Given the description of an element on the screen output the (x, y) to click on. 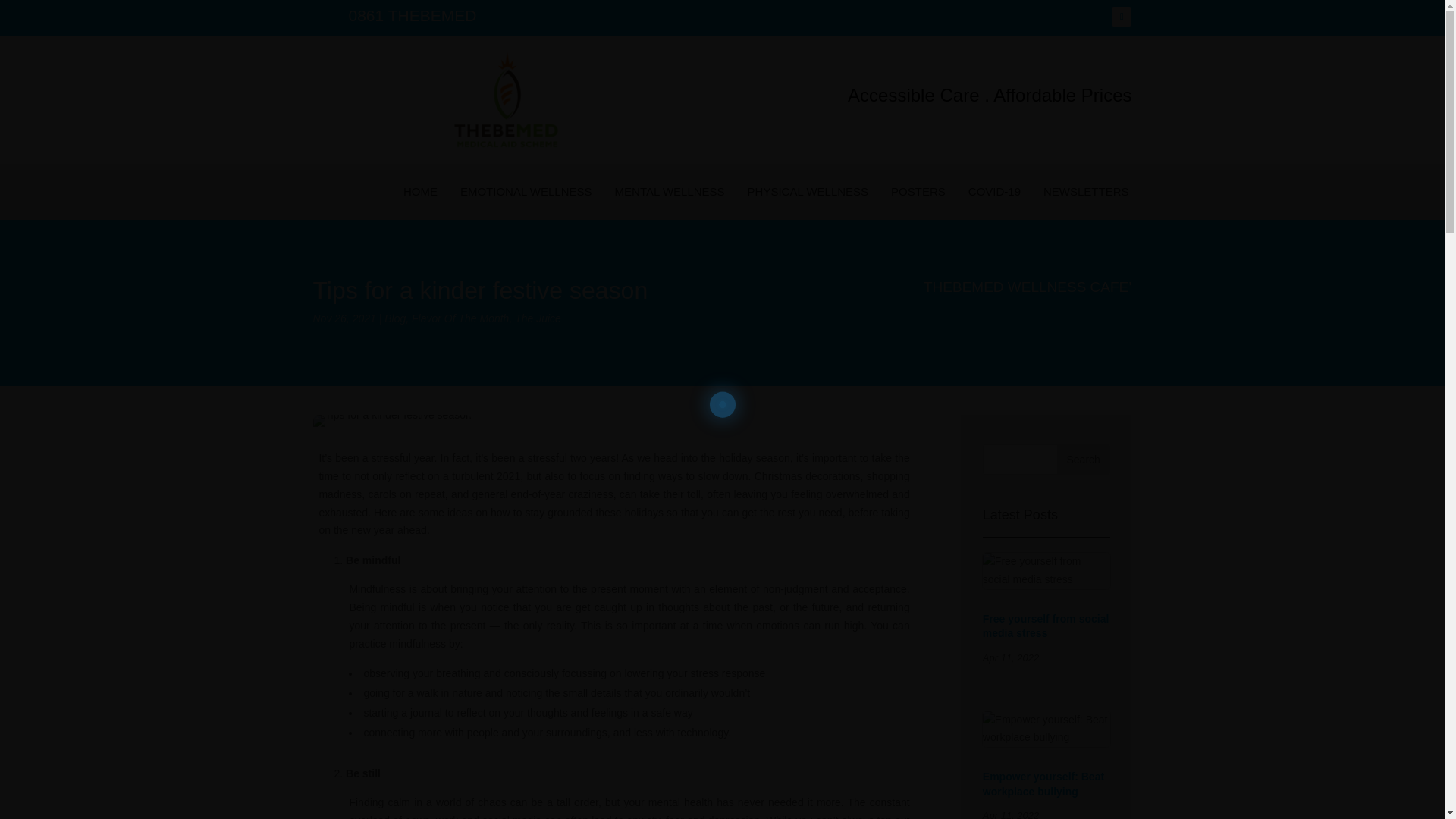
Search (1083, 459)
MENTAL WELLNESS (670, 191)
COVID-19 (994, 191)
Search (1083, 459)
NEWSLETTERS (1086, 191)
Blog (395, 318)
PHYSICAL WELLNESS (808, 191)
POSTERS (917, 191)
HOME (419, 191)
Thebemed Logo (505, 99)
